Given the description of an element on the screen output the (x, y) to click on. 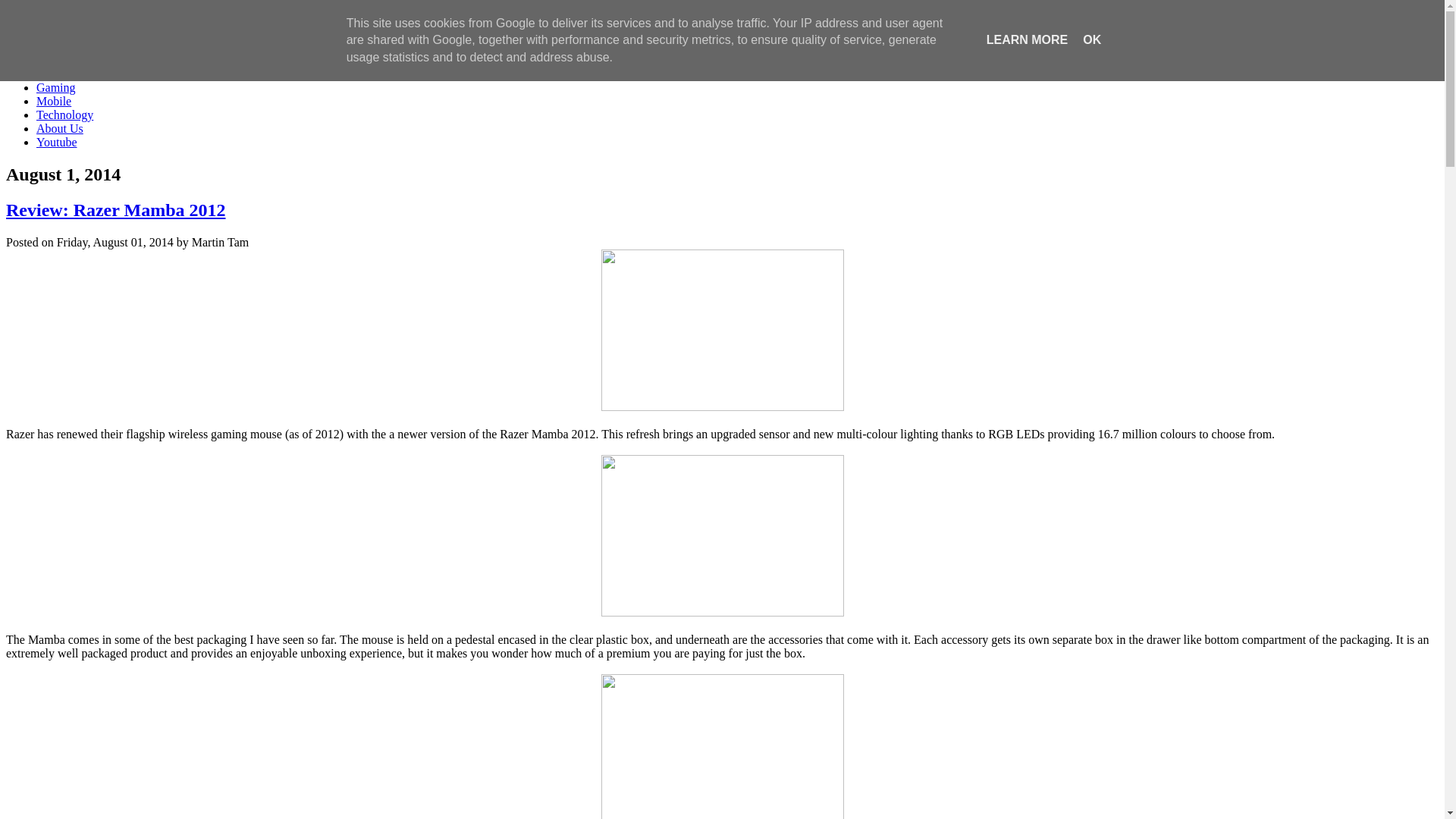
Mobile Element type: text (53, 100)
Review: Razer Mamba 2012 Element type: text (115, 209)
Home Element type: text (50, 73)
About Us Element type: text (59, 128)
Search Element type: text (201, 47)
Technology Element type: text (64, 114)
LEARN MORE Element type: text (1027, 39)
OK Element type: text (1091, 39)
Gaming Element type: text (55, 87)
Youtube Element type: text (56, 141)
